Given the description of an element on the screen output the (x, y) to click on. 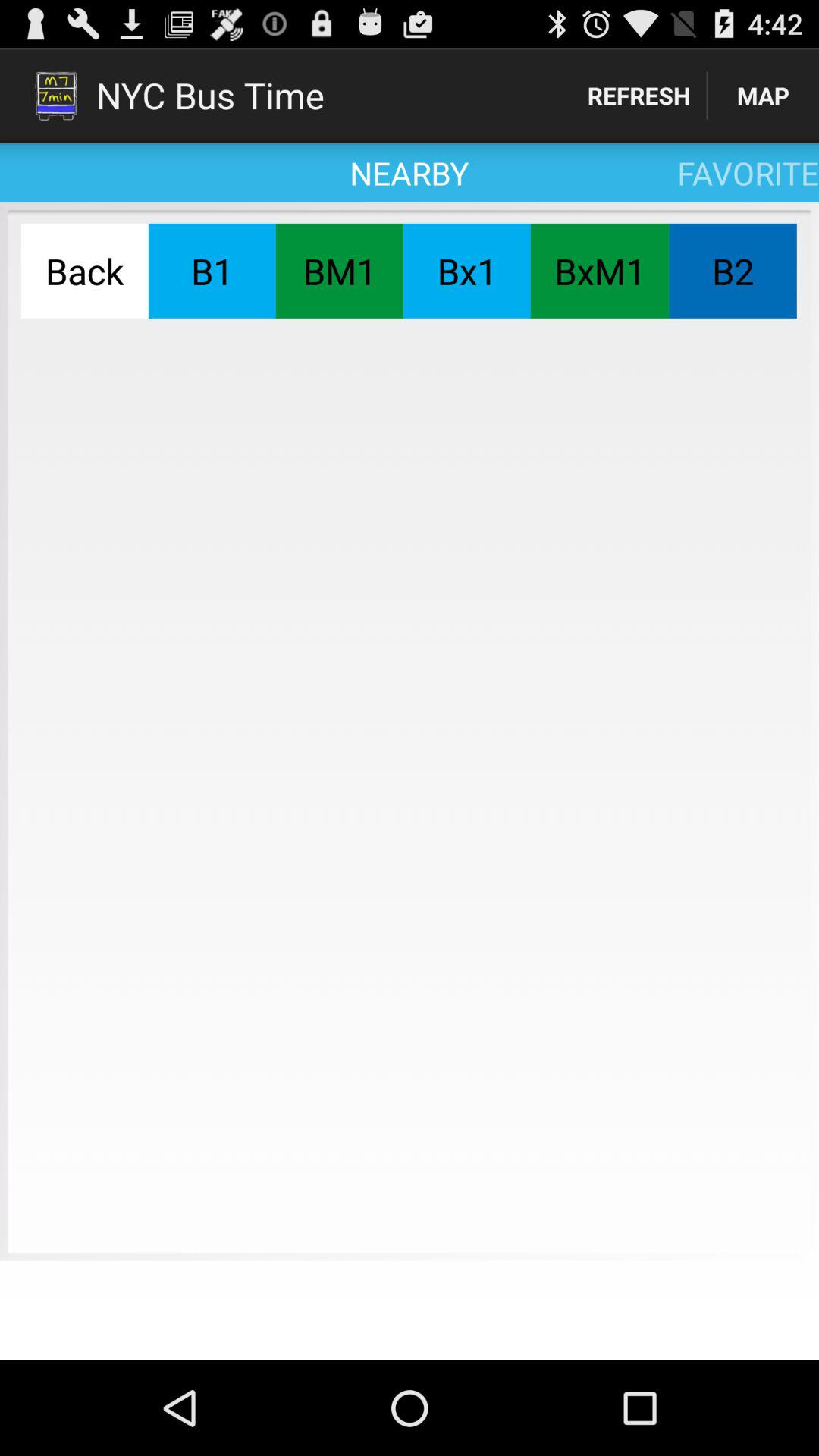
launch icon below the nyc bus time (211, 271)
